Given the description of an element on the screen output the (x, y) to click on. 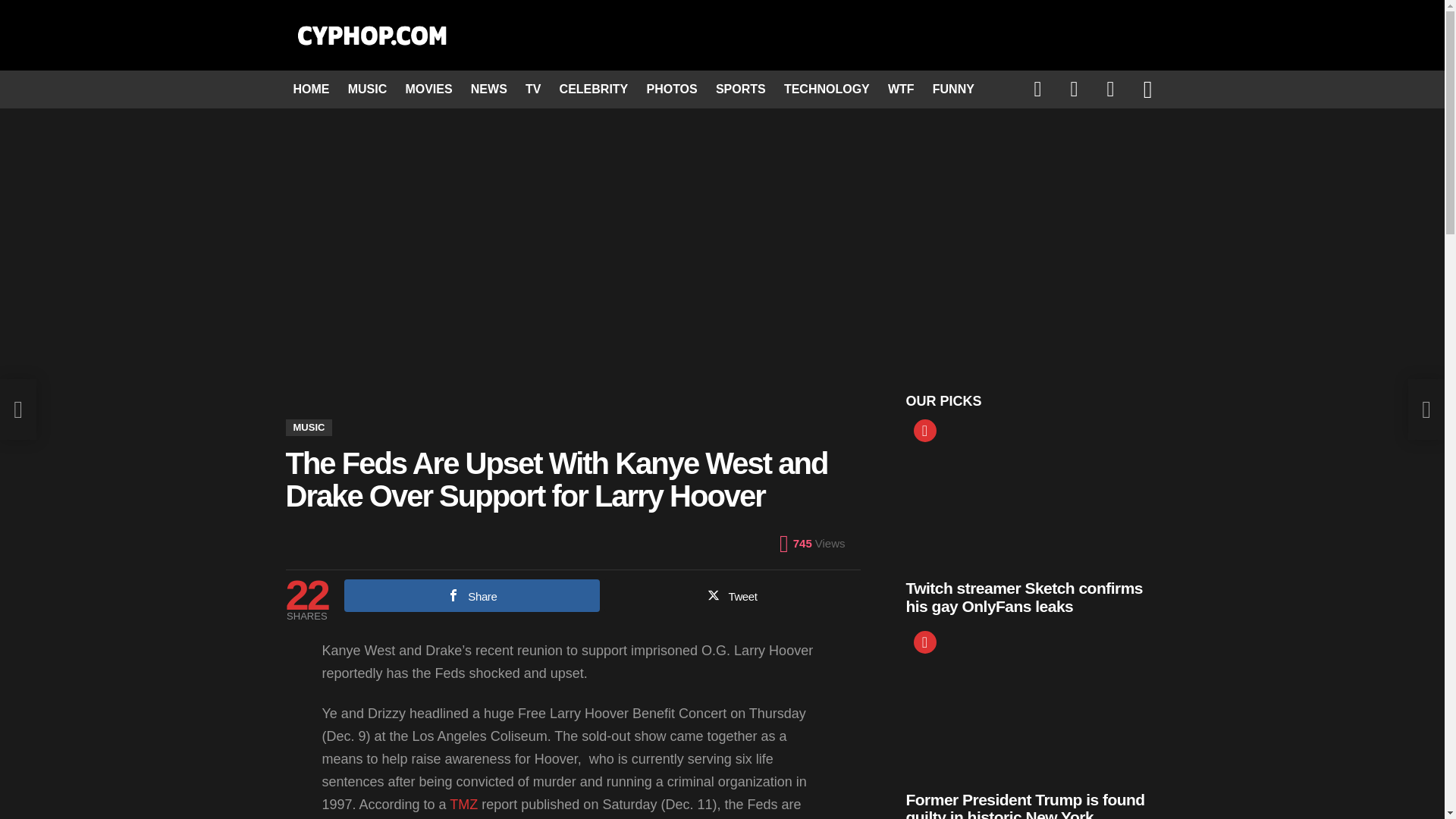
NEWS (489, 88)
FUNNY (952, 88)
MUSIC (308, 427)
Share (471, 595)
Tweet (732, 595)
SPORTS (740, 88)
MUSIC (367, 88)
WTF (900, 88)
MOVIES (428, 88)
TECHNOLOGY (826, 88)
HOME (310, 88)
TV (533, 88)
CELEBRITY (593, 88)
PHOTOS (671, 88)
TMZ (463, 804)
